Given the description of an element on the screen output the (x, y) to click on. 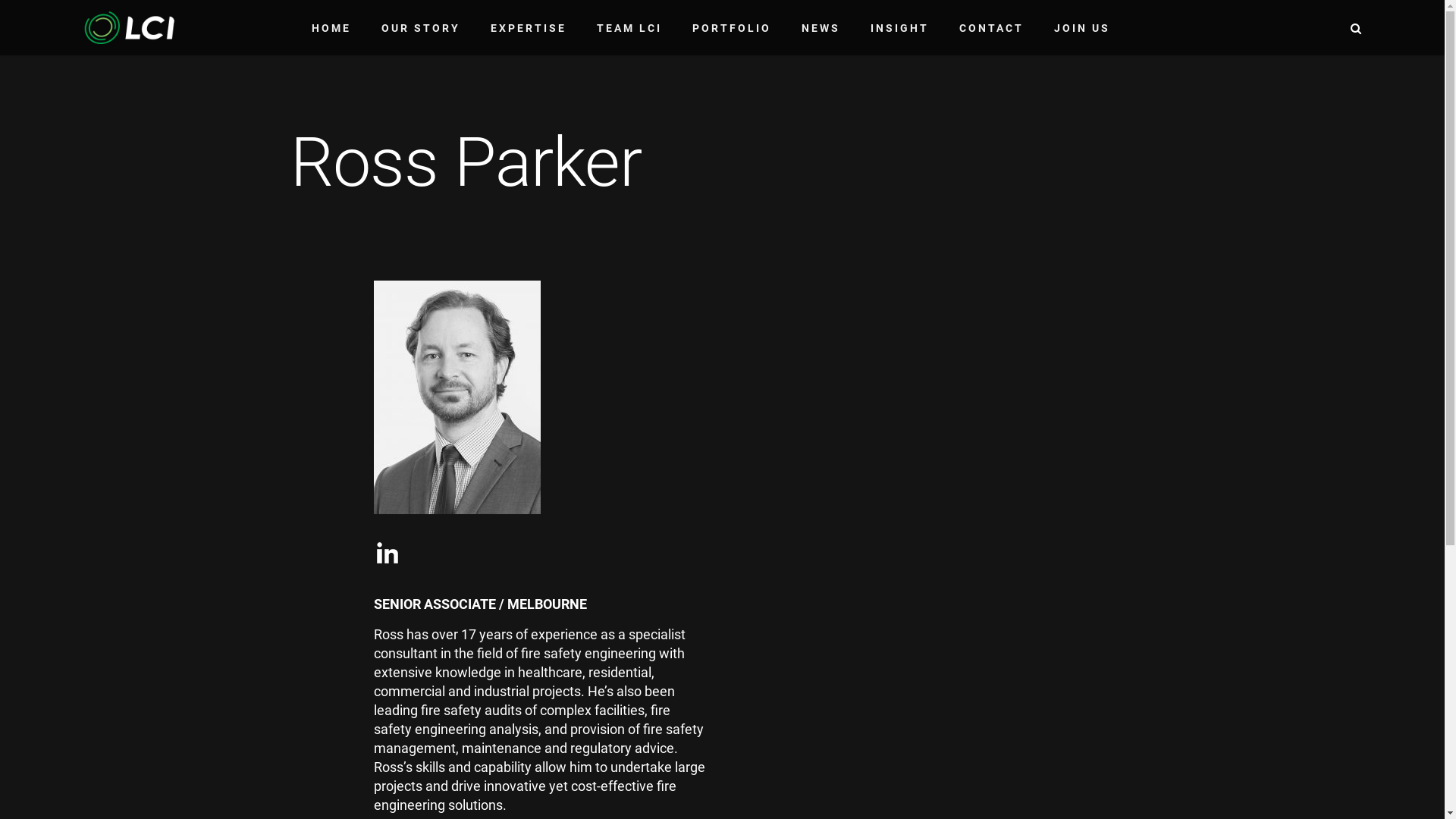
PORTFOLIO Element type: text (730, 27)
LCI Consultants Element type: hover (128, 26)
TEAM LCI Element type: text (628, 27)
linked-in-icon Element type: hover (386, 553)
CONTACT Element type: text (990, 27)
HOME Element type: text (330, 27)
JOIN US Element type: text (1081, 27)
NEWS Element type: text (819, 27)
Ross Parker Element type: hover (456, 397)
OUR STORY Element type: text (419, 27)
INSIGHT Element type: text (899, 27)
EXPERTISE Element type: text (527, 27)
